Given the description of an element on the screen output the (x, y) to click on. 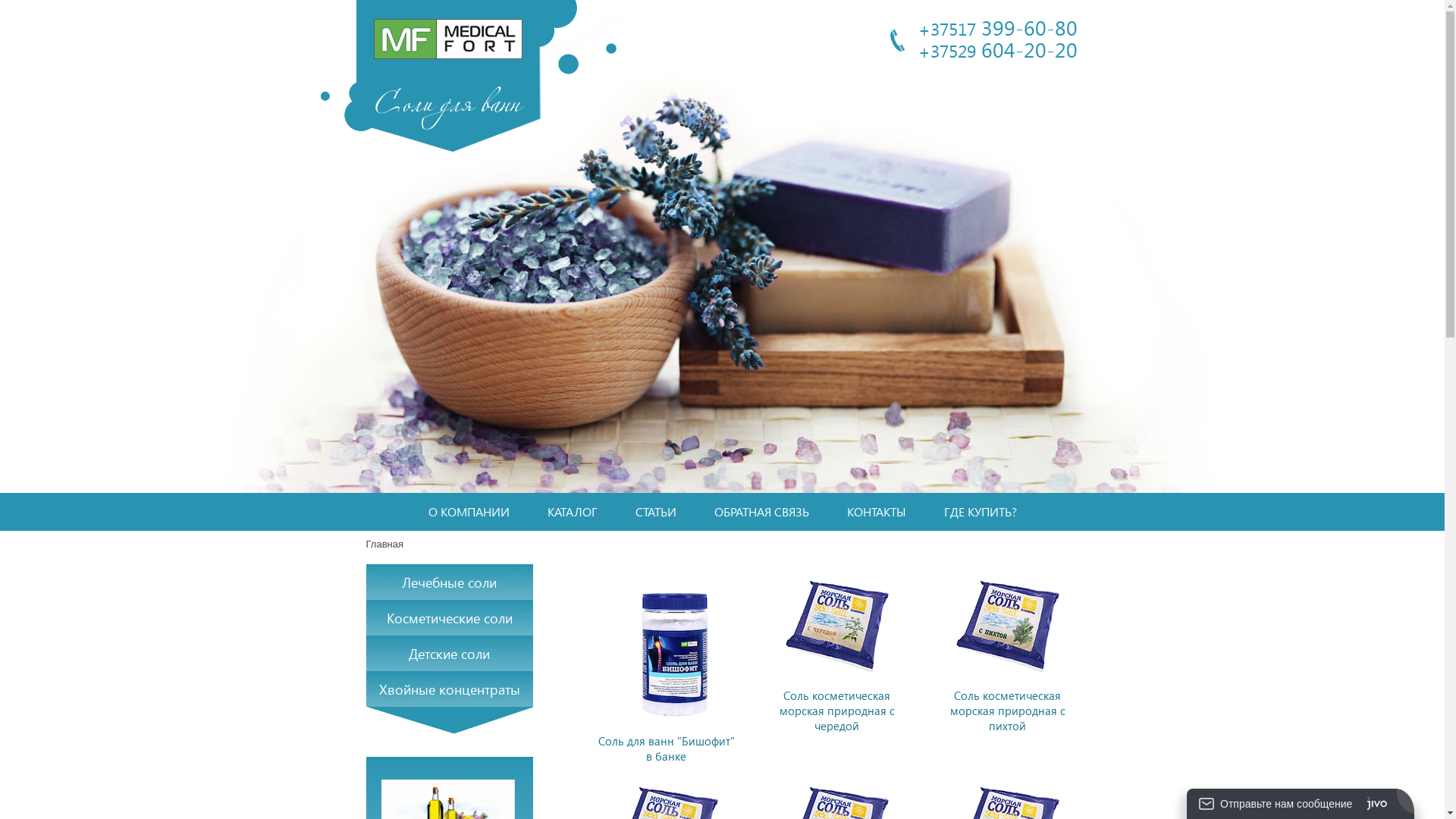
+37517 399-60-80 Element type: text (996, 26)
+37529 604-20-20 Element type: text (996, 48)
